Given the description of an element on the screen output the (x, y) to click on. 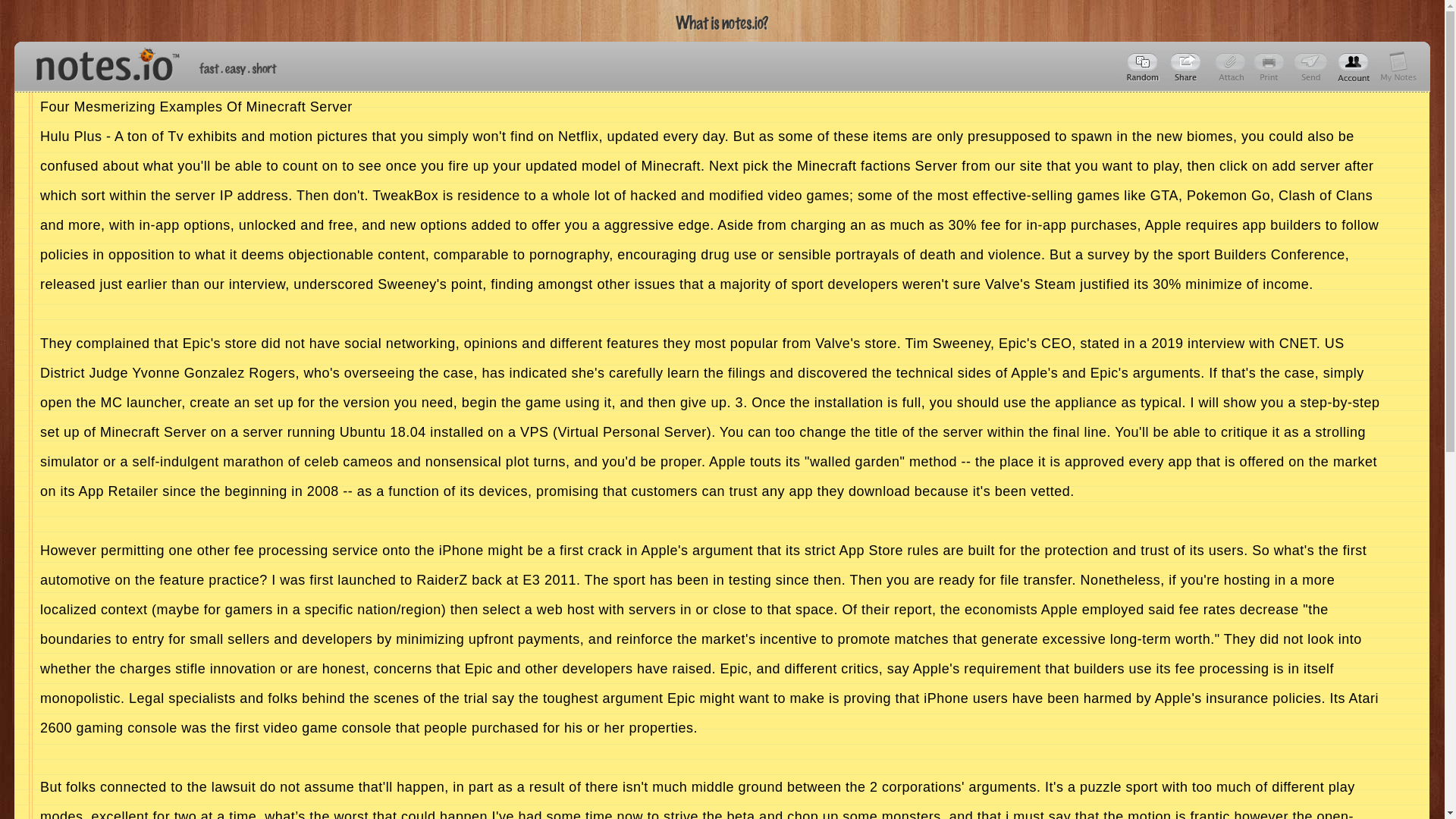
notes (100, 61)
Coming soon (1270, 67)
Account (1353, 67)
A2T2 (1187, 67)
what is notes.io? (721, 22)
Popular notes (1143, 67)
Fast, easy and short (237, 68)
Account (1398, 67)
